Given the description of an element on the screen output the (x, y) to click on. 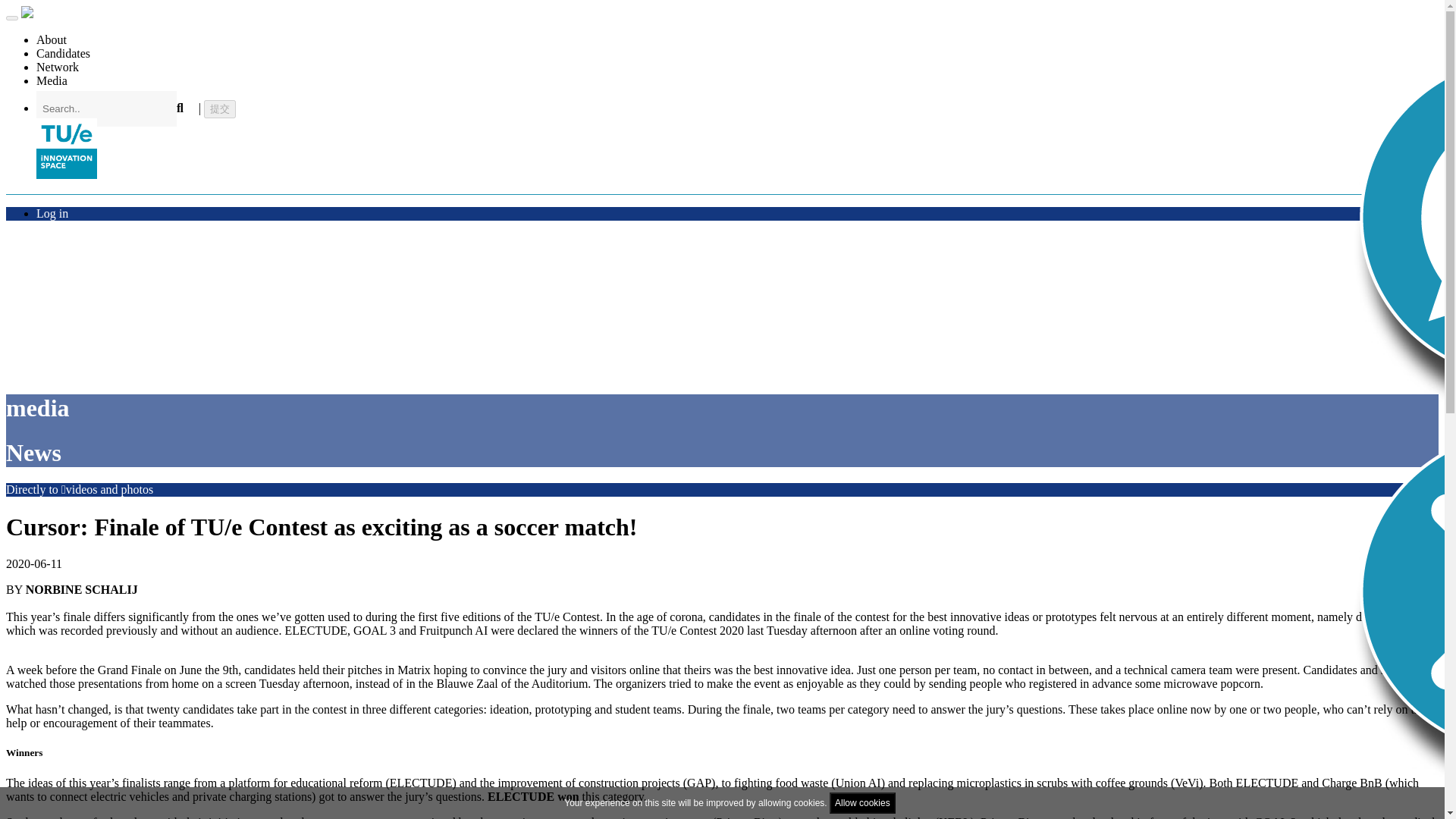
Media (51, 80)
videos and photos (106, 489)
pitches (364, 669)
Candidates (63, 52)
GOAL 3 (1275, 817)
Printec Bites (747, 817)
KEBL (955, 817)
VeVi (1186, 782)
NORBINE SCHALIJ (82, 589)
ELECTUDE (421, 782)
